Given the description of an element on the screen output the (x, y) to click on. 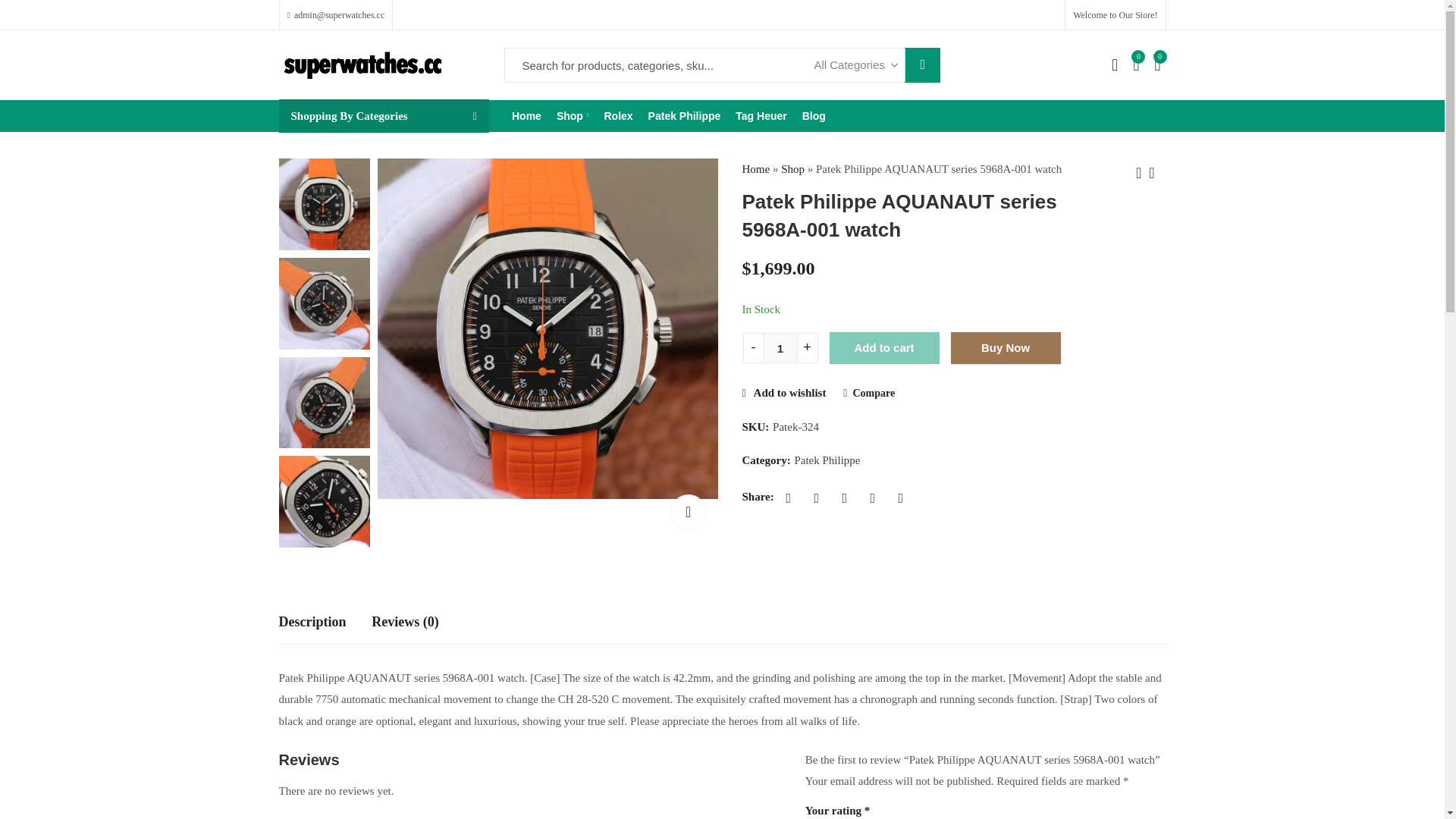
Home (525, 115)
patek-philippe-1681-1.jpg (547, 328)
Tag Heuer (760, 115)
Patek Philippe (684, 115)
Search (922, 64)
1 (779, 347)
Rolex (617, 115)
Blog (813, 115)
Shop (572, 115)
